Given the description of an element on the screen output the (x, y) to click on. 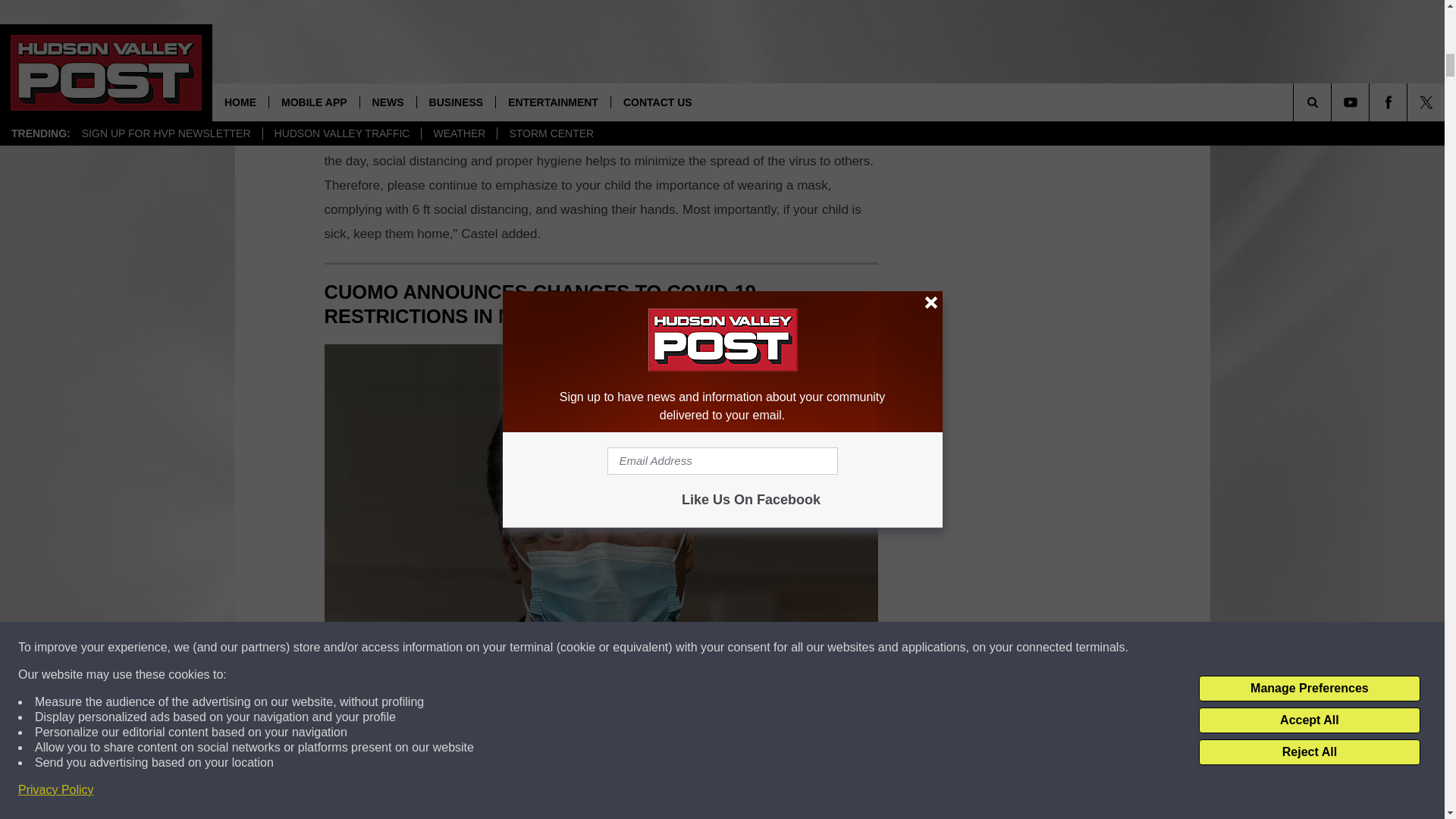
Email Address (600, 52)
